Given the description of an element on the screen output the (x, y) to click on. 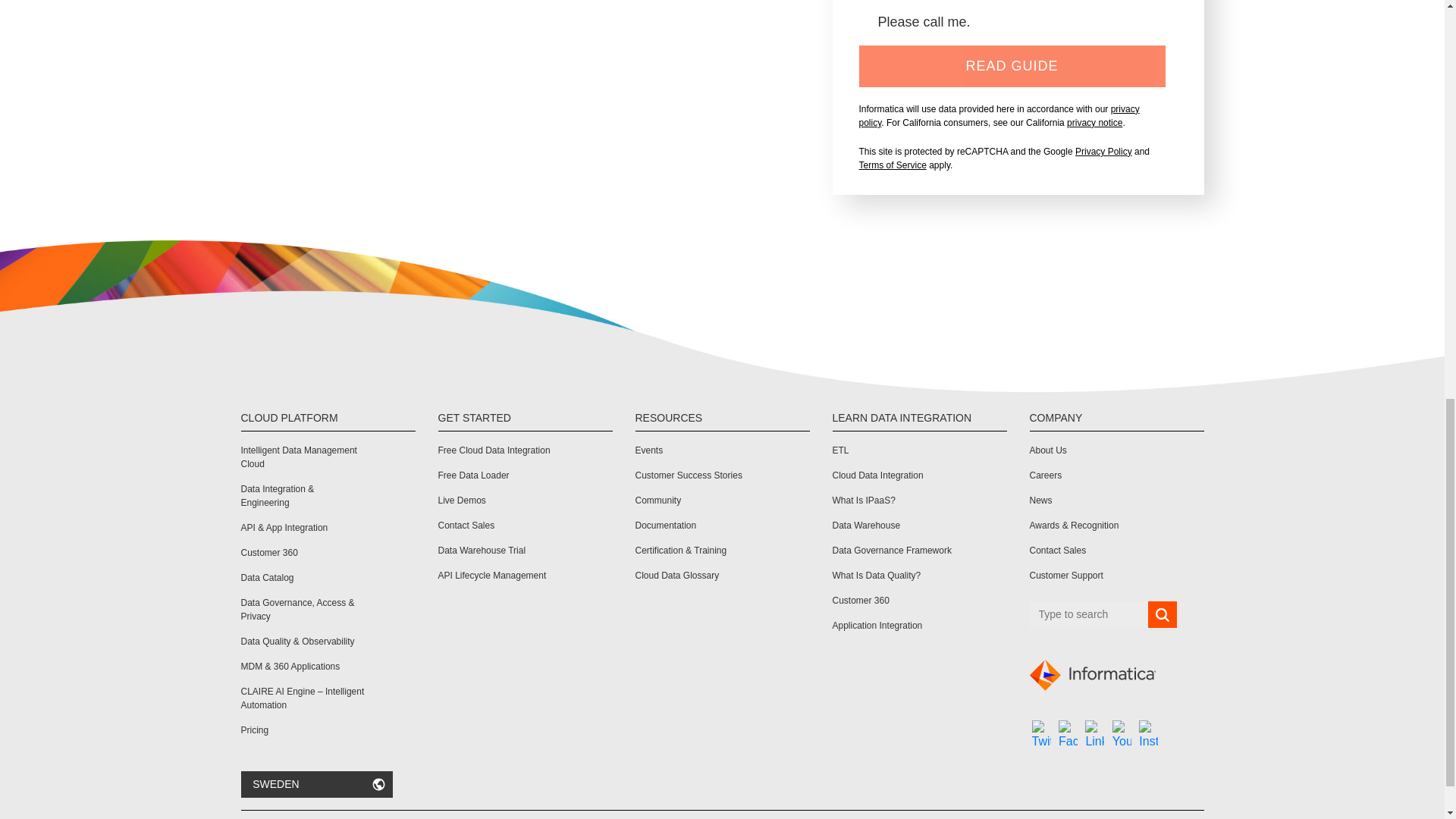
Search (1162, 614)
Privacy Policy (1103, 151)
privacy policy (998, 115)
Terms of Service (892, 164)
Insert a query. Press enter to send (1088, 614)
READ GUIDE (1011, 65)
privacy notice (1094, 122)
